Given the description of an element on the screen output the (x, y) to click on. 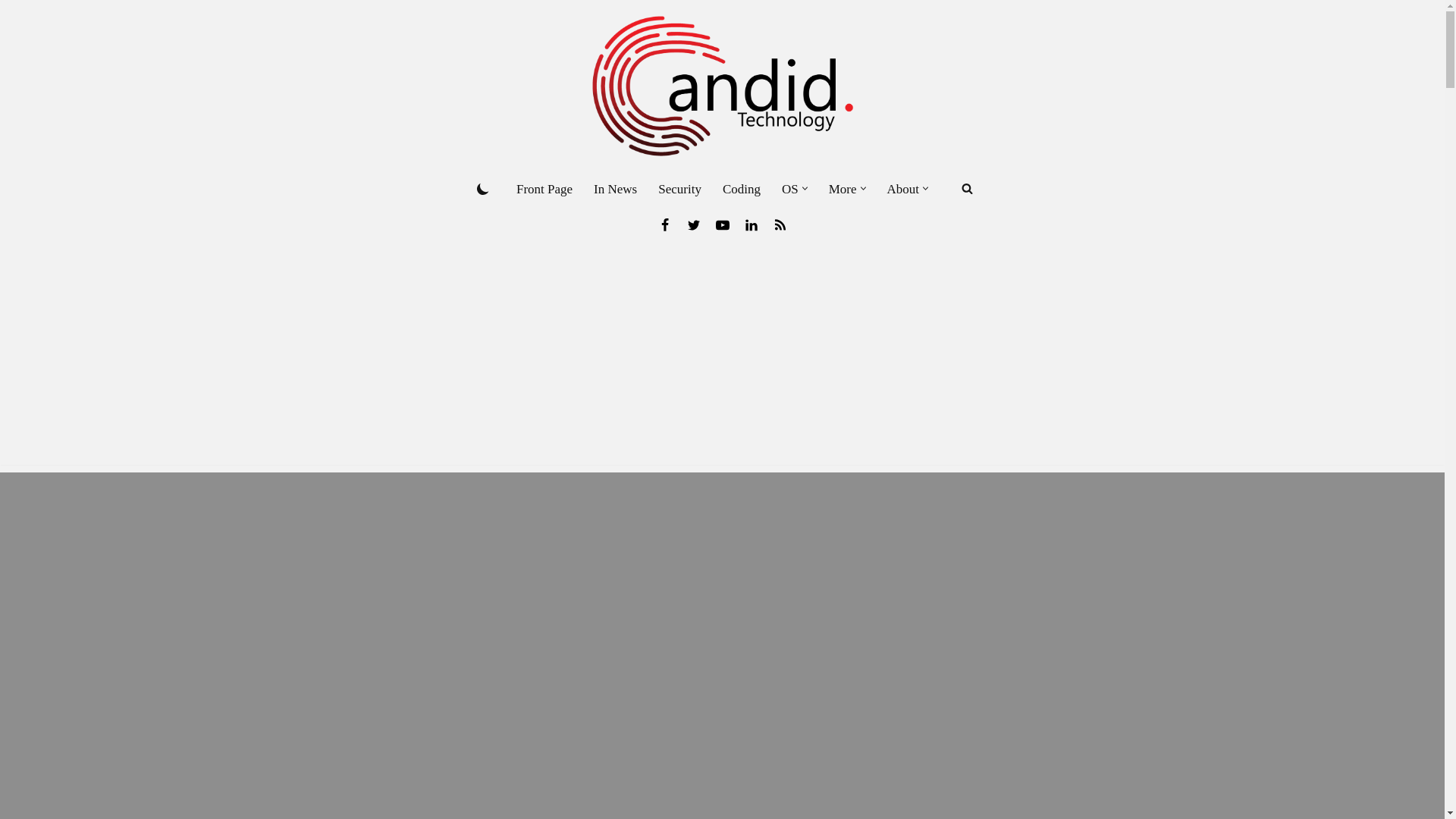
Linkedin (750, 224)
Front Page (544, 188)
Security (679, 188)
Facebook (664, 224)
More (842, 188)
OS (789, 188)
Skip to content (11, 31)
Coding (741, 188)
Youtube (721, 224)
In News (615, 188)
Twitter (692, 224)
News (779, 224)
About (903, 188)
